Given the description of an element on the screen output the (x, y) to click on. 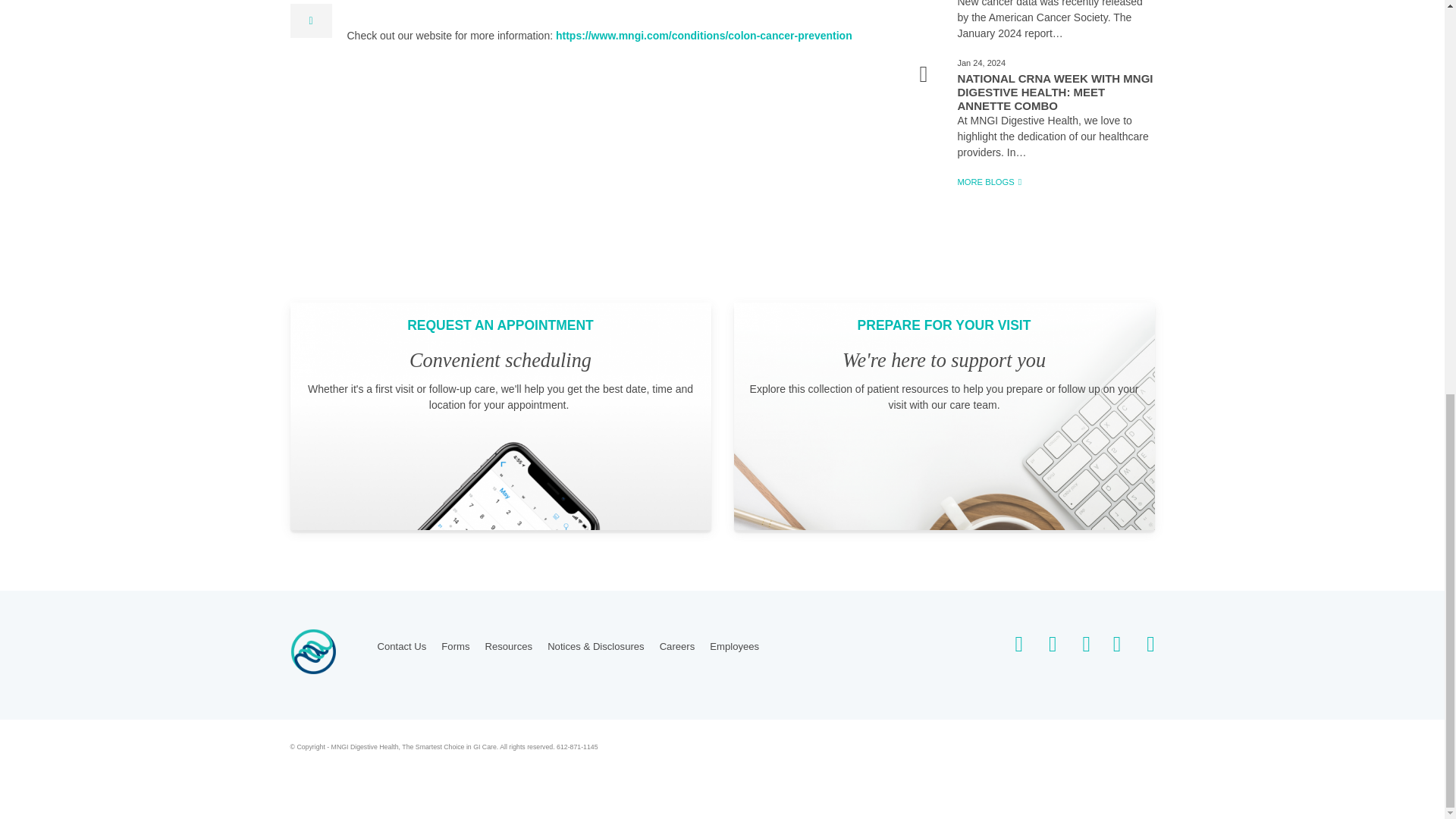
Request an Appointment (499, 415)
Prepare for your Visit (943, 415)
Home (311, 649)
